Given the description of an element on the screen output the (x, y) to click on. 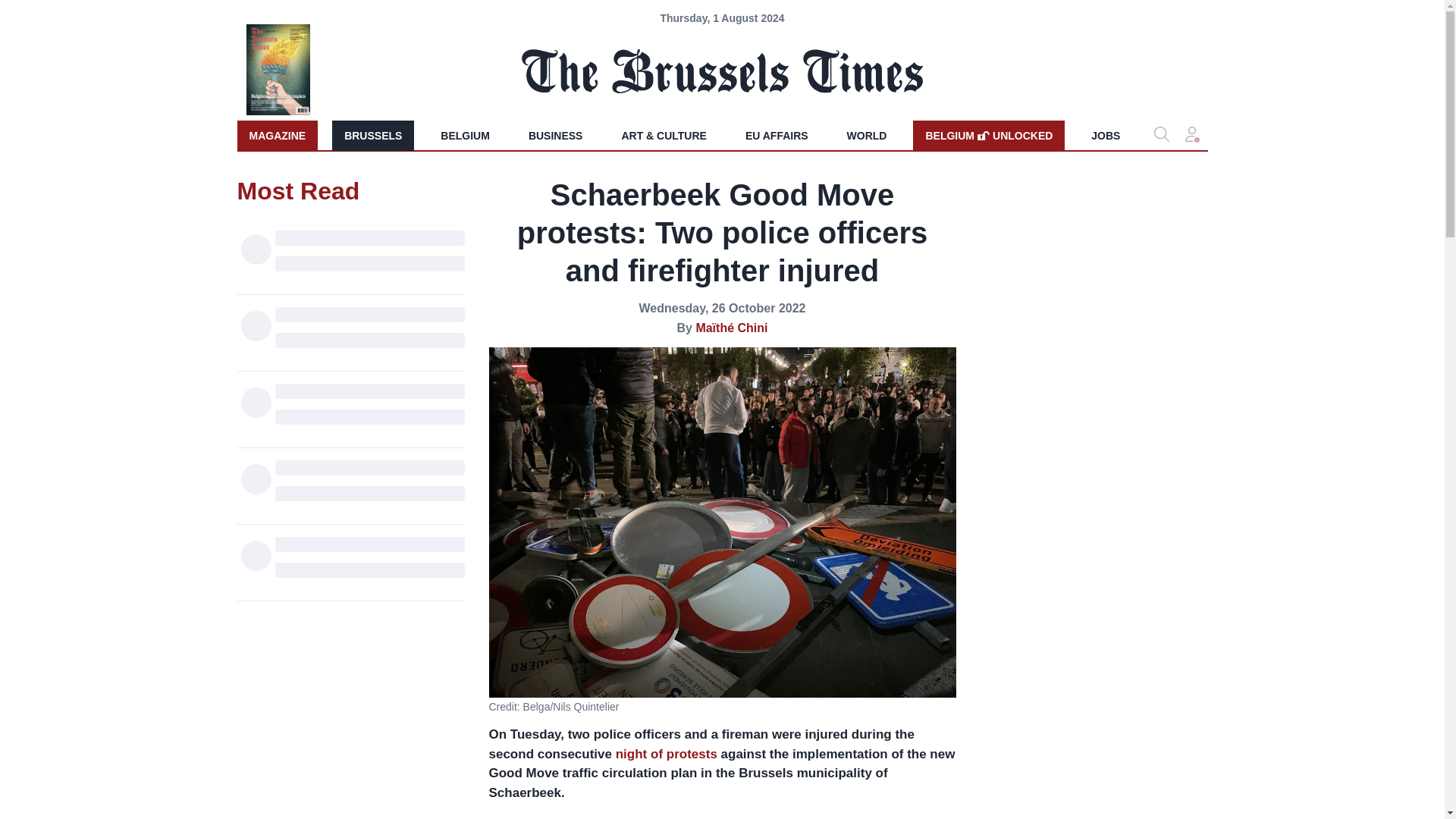
EU AFFAIRS (777, 135)
MAGAZINE (276, 135)
BELGIUM (465, 135)
BUSINESS (555, 135)
WORLD (866, 135)
JOBS (988, 135)
BRUSSELS (1105, 135)
night of protests (372, 135)
